Given the description of an element on the screen output the (x, y) to click on. 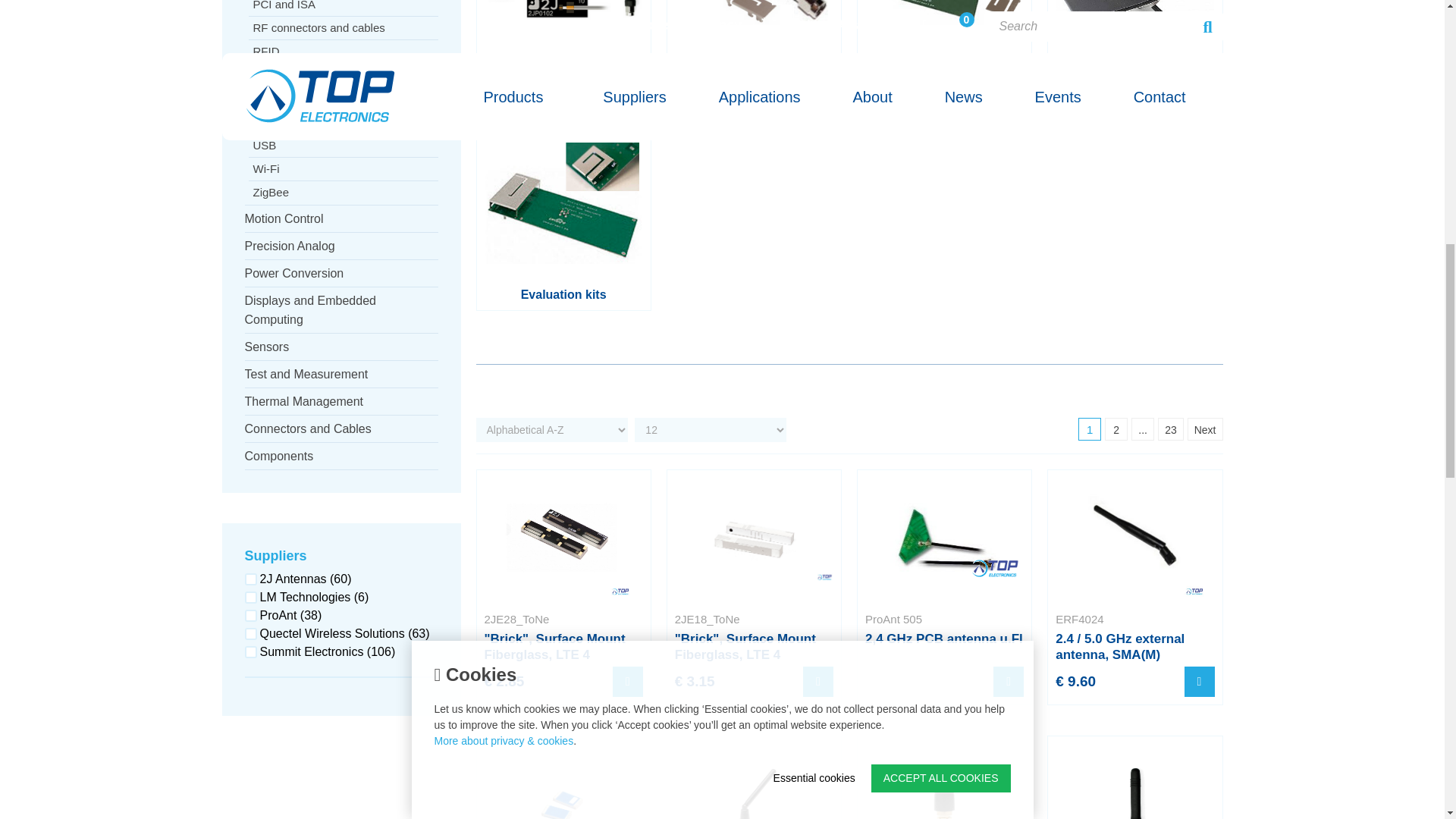
2,4 GHz PCB antenna u.Fl (943, 537)
